Given the description of an element on the screen output the (x, y) to click on. 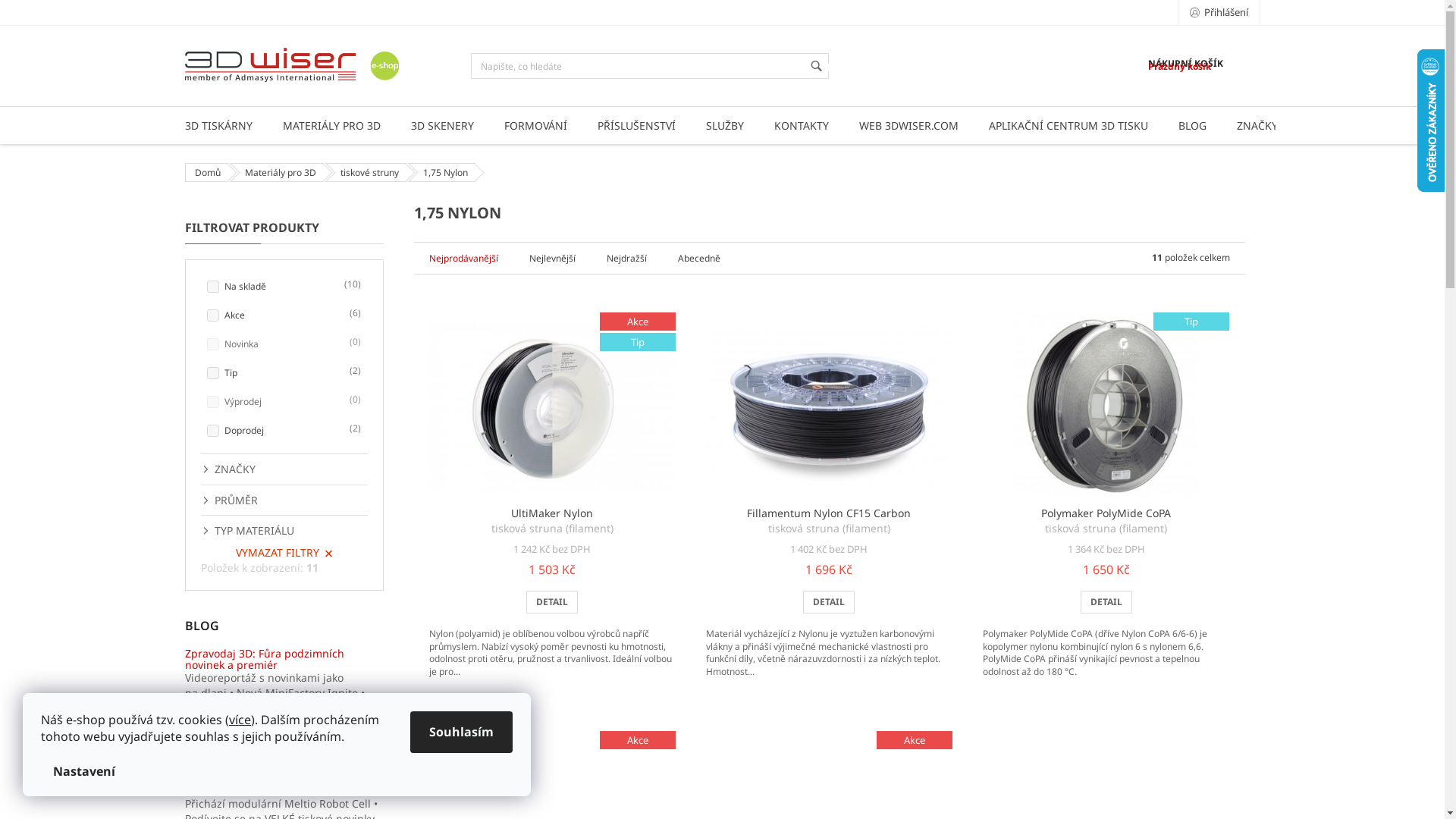
Akce
Tip Element type: text (552, 405)
KONTAKTY Element type: text (800, 125)
DETAIL Element type: text (1106, 601)
VYMAZAT FILTRY Element type: text (283, 554)
WEB 3DWISER.COM Element type: text (907, 125)
HLEDAT Element type: text (816, 65)
3D SKENERY Element type: text (442, 125)
BLOG Element type: text (1192, 125)
DETAIL Element type: text (551, 601)
Tip Element type: text (1105, 405)
DETAIL Element type: text (828, 601)
